Given the description of an element on the screen output the (x, y) to click on. 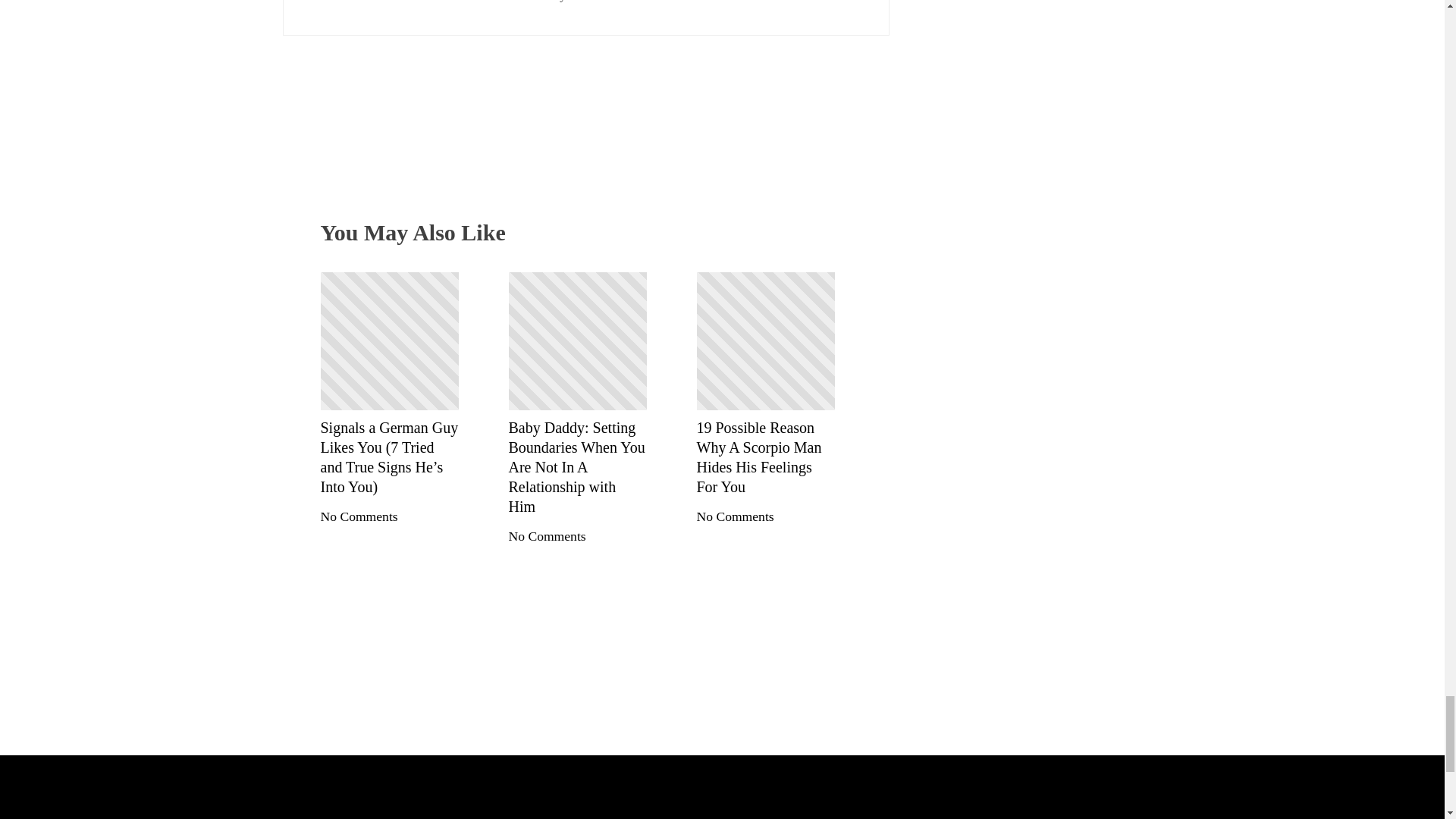
No Comments (734, 516)
No Comments (546, 535)
No Comments (358, 516)
